Given the description of an element on the screen output the (x, y) to click on. 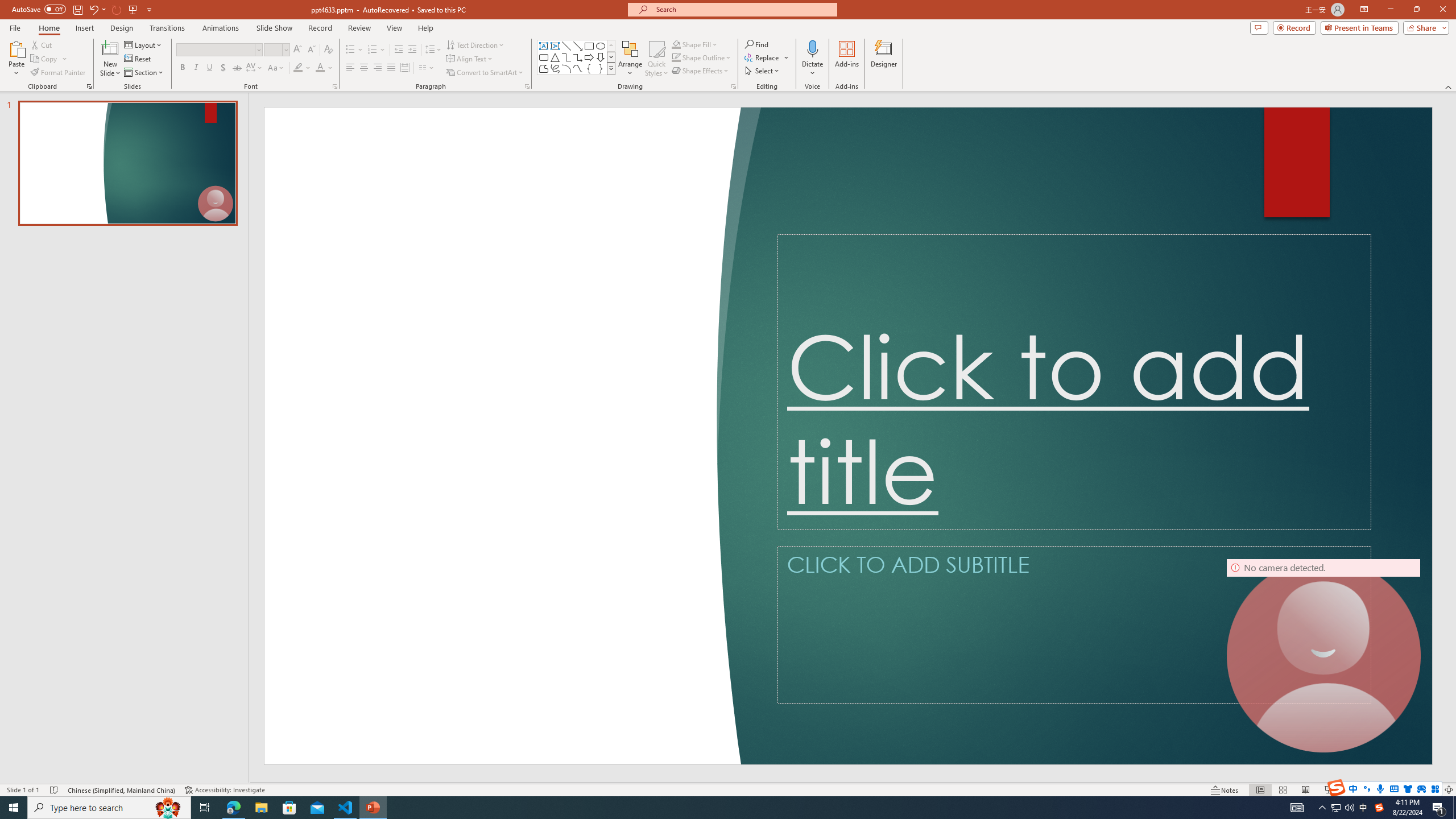
Zoom 161% (1430, 790)
